Given the description of an element on the screen output the (x, y) to click on. 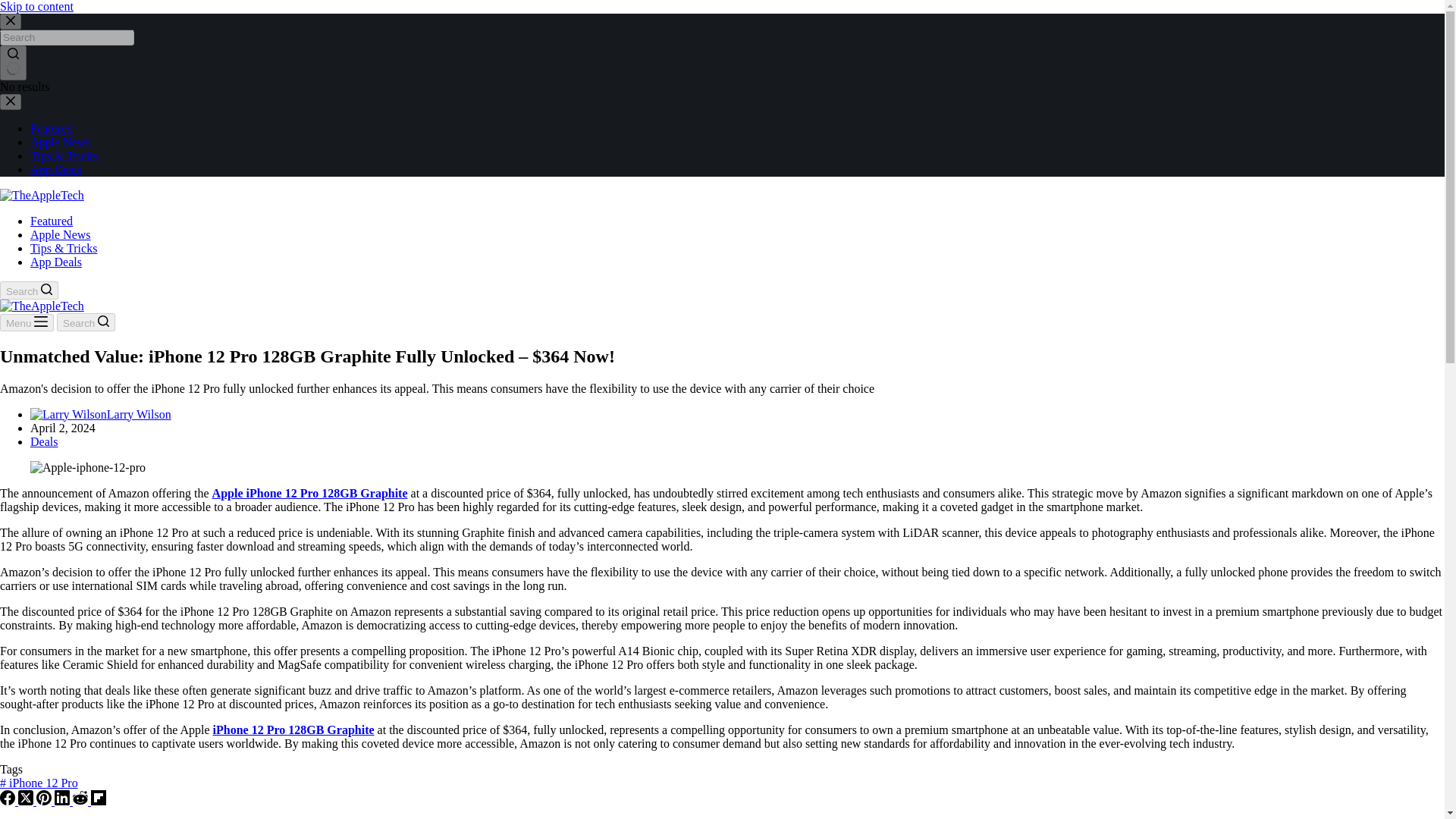
Posts by Larry Wilson (138, 413)
Search (29, 290)
App Deals (55, 169)
Skip to content (37, 6)
iPhone 12 Pro 128GB Graphite (293, 729)
Deals (44, 440)
Search (85, 321)
Featured (51, 220)
Apple iPhone 12 Pro 128GB Graphite (309, 492)
Featured (51, 128)
Search for... (66, 37)
Menu (26, 322)
Apple News (60, 141)
Apple News (60, 234)
App Deals (55, 261)
